Given the description of an element on the screen output the (x, y) to click on. 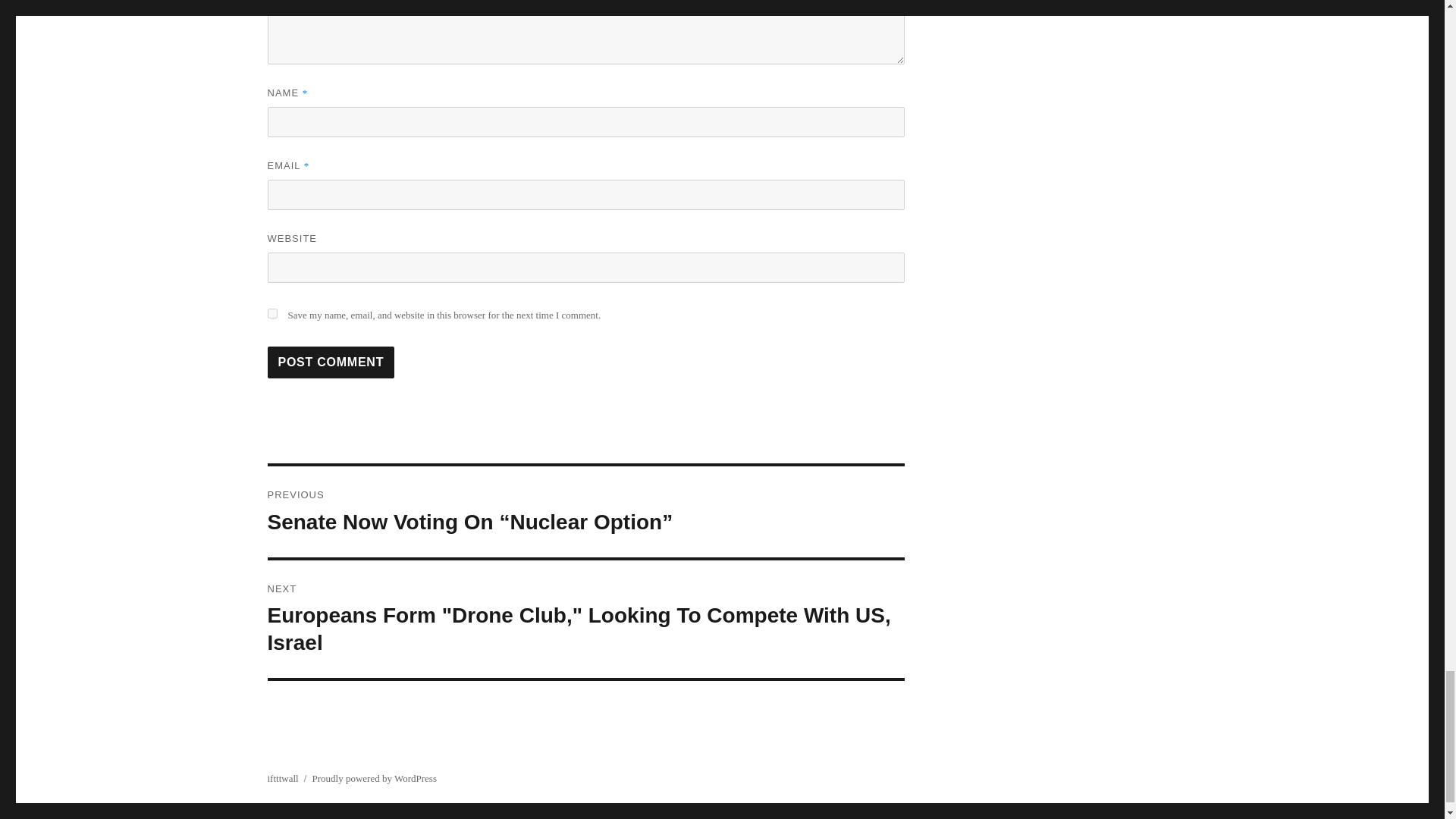
Post Comment (330, 362)
yes (271, 313)
Post Comment (330, 362)
